Given the description of an element on the screen output the (x, y) to click on. 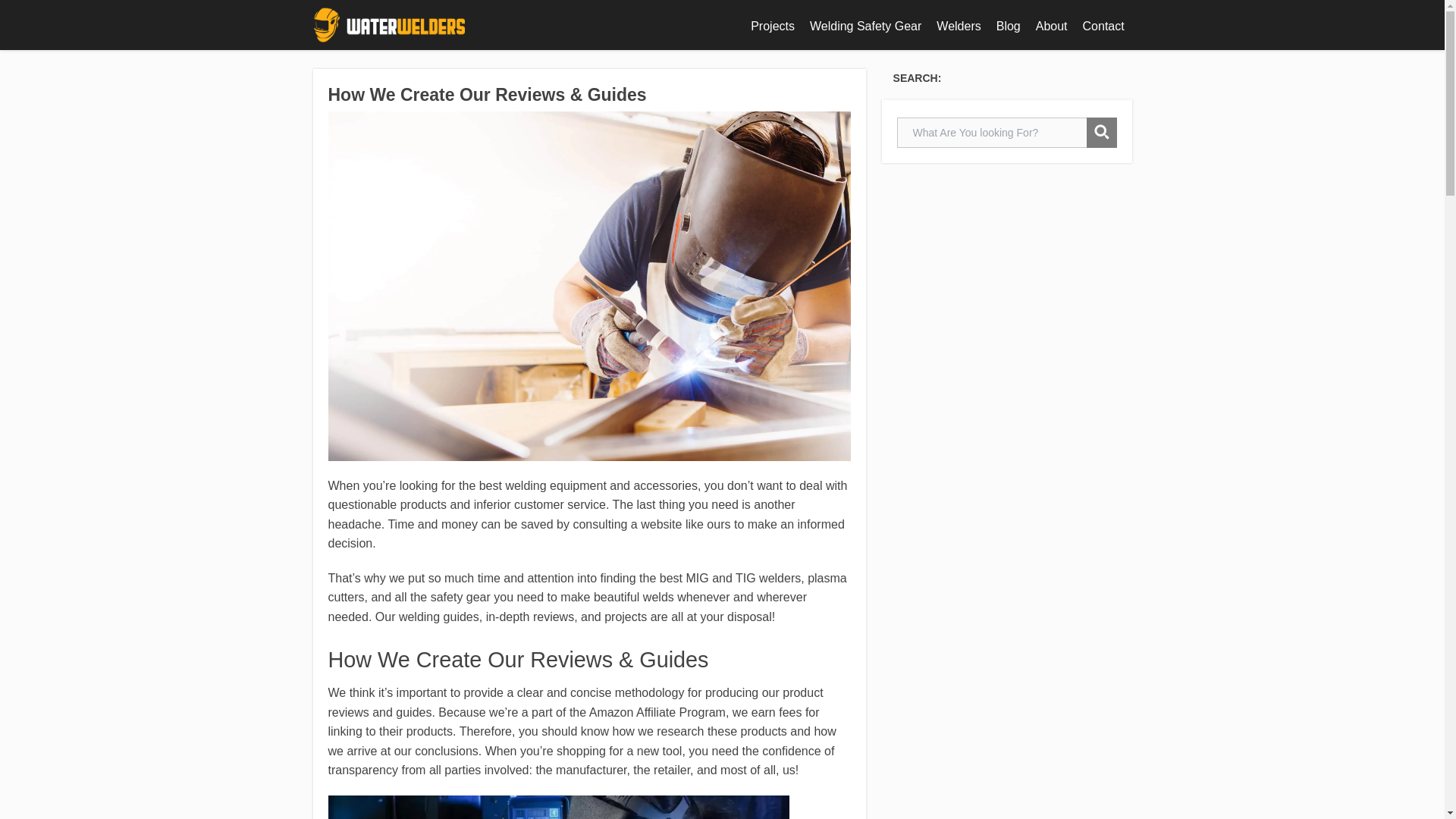
Welding Safety Gear (865, 26)
Welders (958, 26)
Blog (1007, 26)
Projects (772, 26)
Aerospace Welder (558, 807)
Contact (1103, 26)
About (1051, 26)
